Given the description of an element on the screen output the (x, y) to click on. 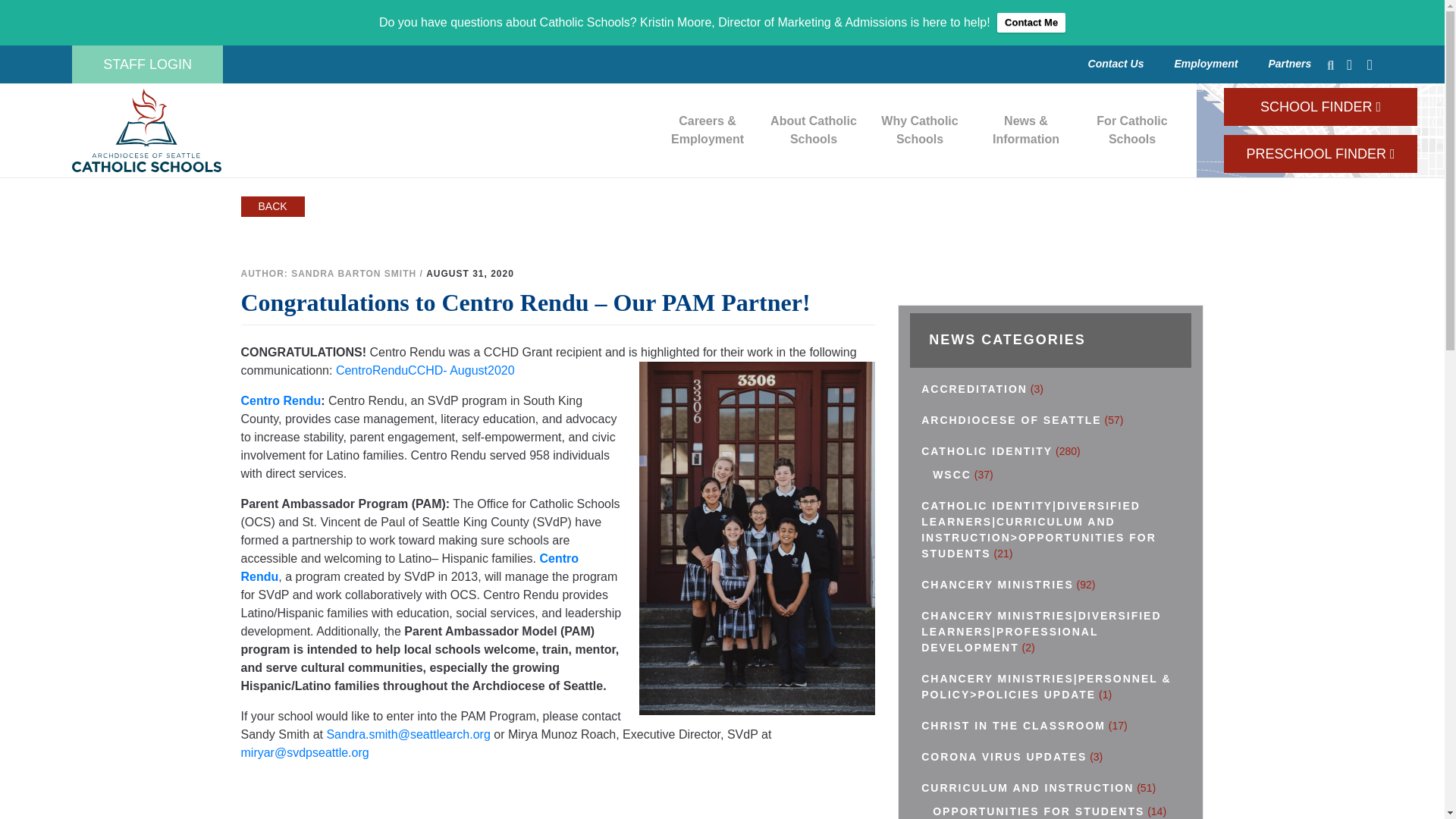
Contact Me (1031, 22)
Employment (1205, 63)
Contact Us (146, 64)
Partners (919, 130)
